Given the description of an element on the screen output the (x, y) to click on. 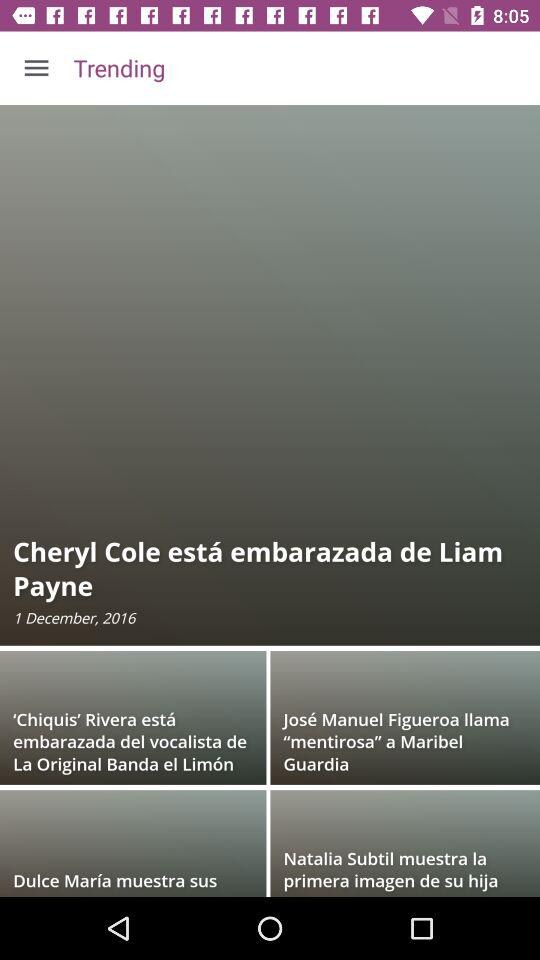
advertisement page (270, 501)
